Given the description of an element on the screen output the (x, y) to click on. 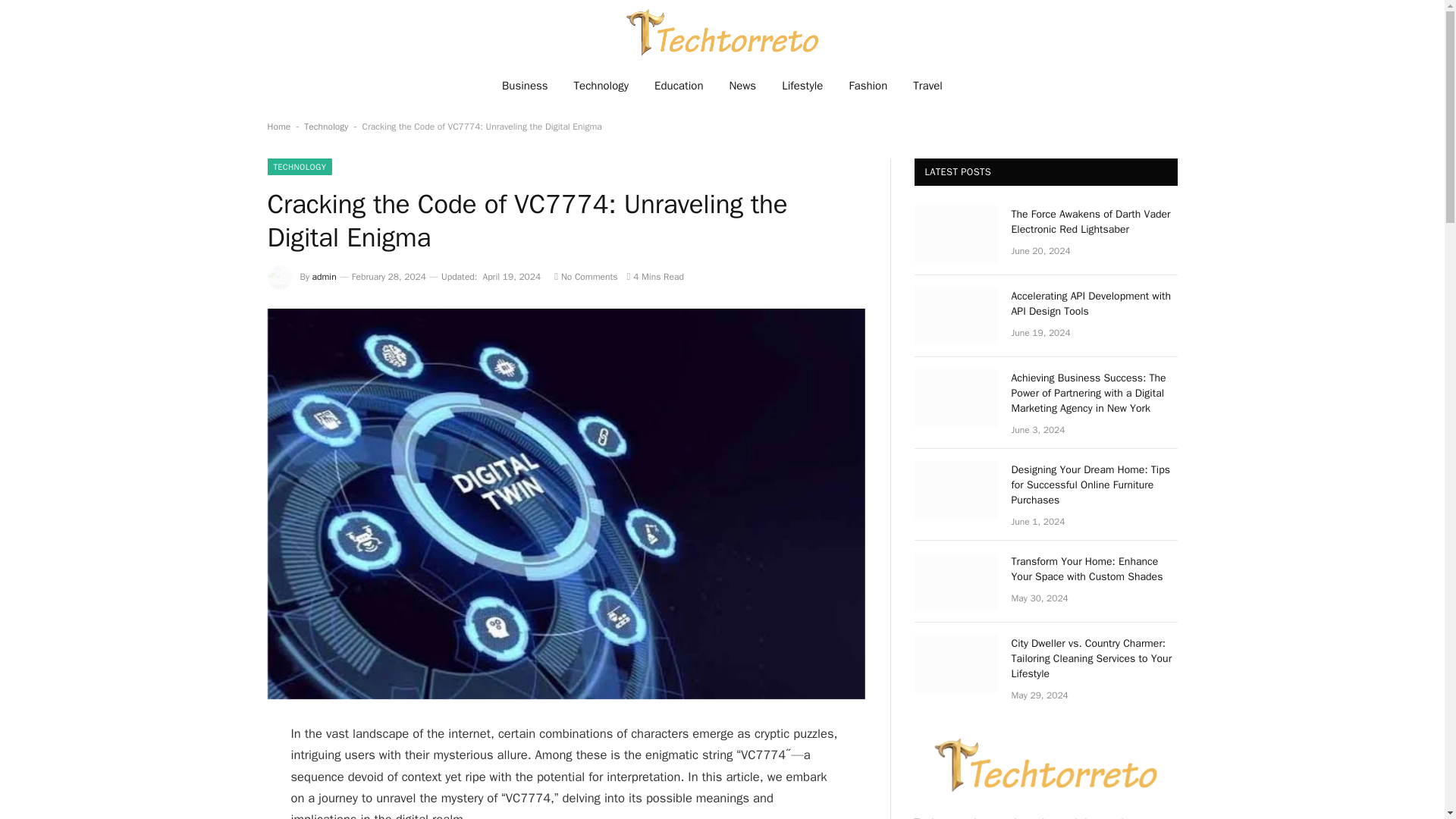
News (742, 85)
Technology (325, 126)
Business (524, 85)
Education (679, 85)
Techtorreto (721, 32)
Technology (601, 85)
Lifestyle (801, 85)
No Comments (585, 276)
Fashion (867, 85)
TECHNOLOGY (298, 166)
Home (277, 126)
admin (324, 276)
Travel (927, 85)
The Force Awakens of Darth Vader Electronic Red Lightsaber (955, 233)
Posts by admin (324, 276)
